Given the description of an element on the screen output the (x, y) to click on. 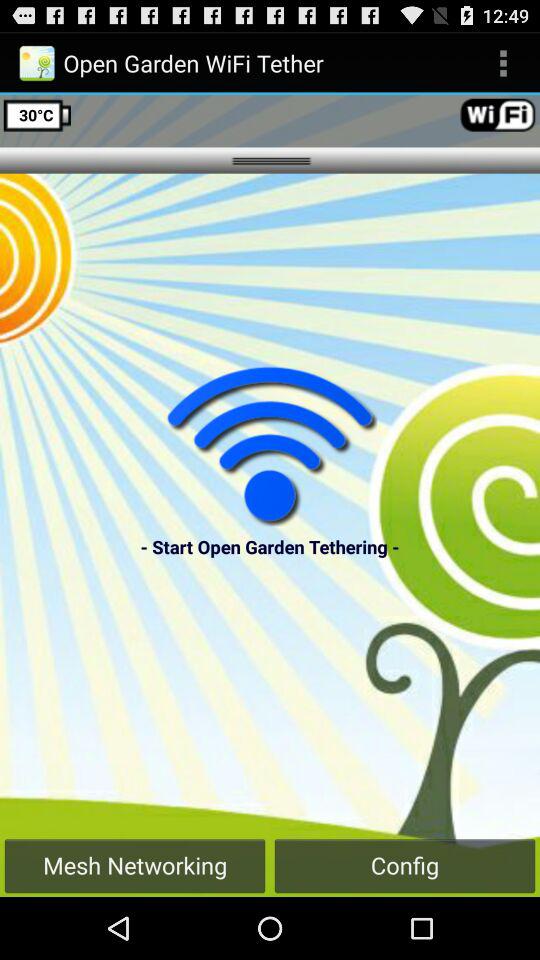
start open garden tethering (269, 445)
